Given the description of an element on the screen output the (x, y) to click on. 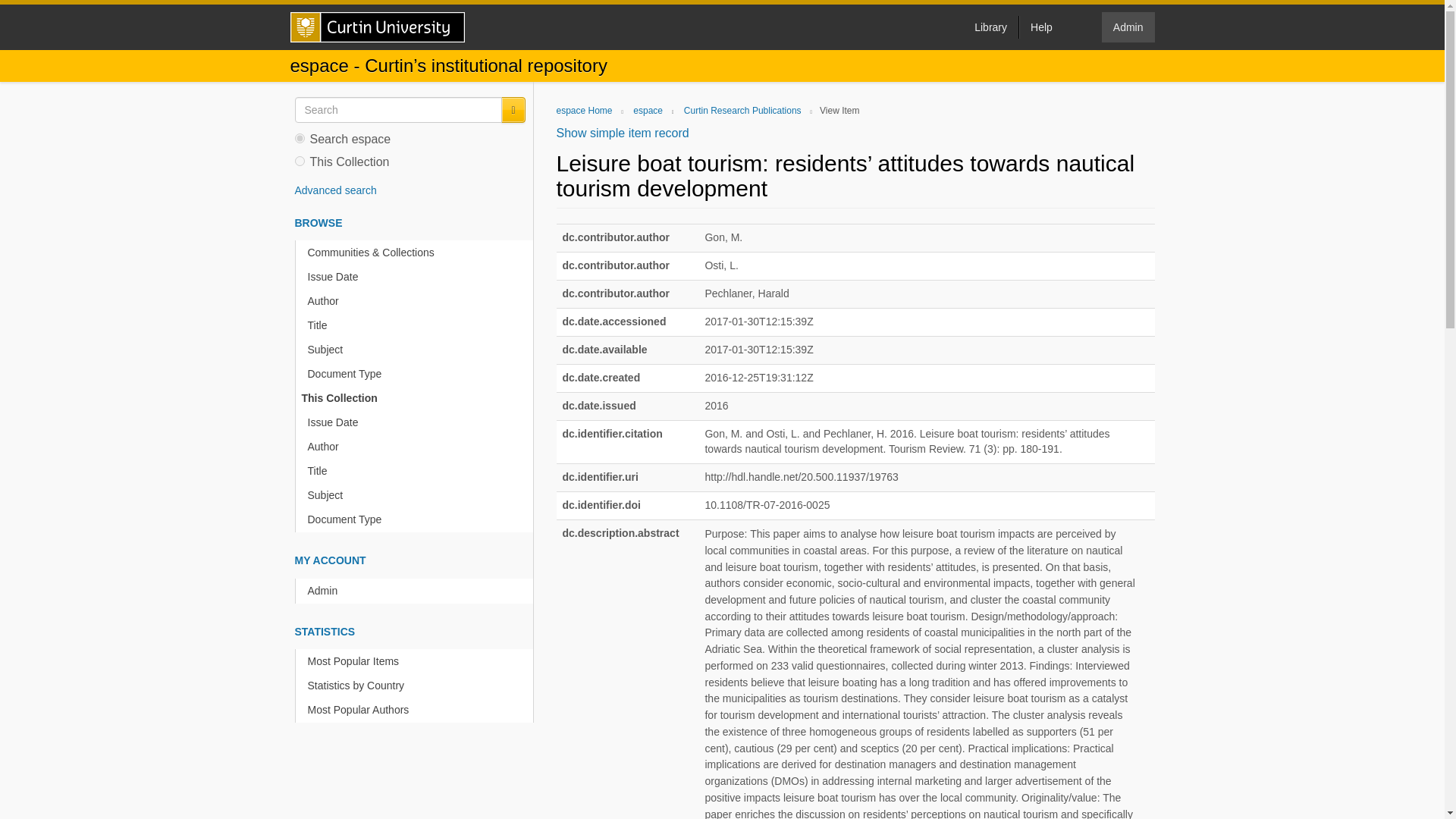
espace (647, 110)
Title (416, 325)
Show simple item record (622, 132)
Author (416, 446)
Admin (416, 590)
Library (989, 26)
Author (416, 301)
Most Popular Items (416, 661)
Advanced search (334, 190)
Document Type (416, 519)
espace Home (584, 110)
Subject (416, 495)
Issue Date (416, 422)
Curtin University Homepage (376, 27)
Issue Date (416, 276)
